Given the description of an element on the screen output the (x, y) to click on. 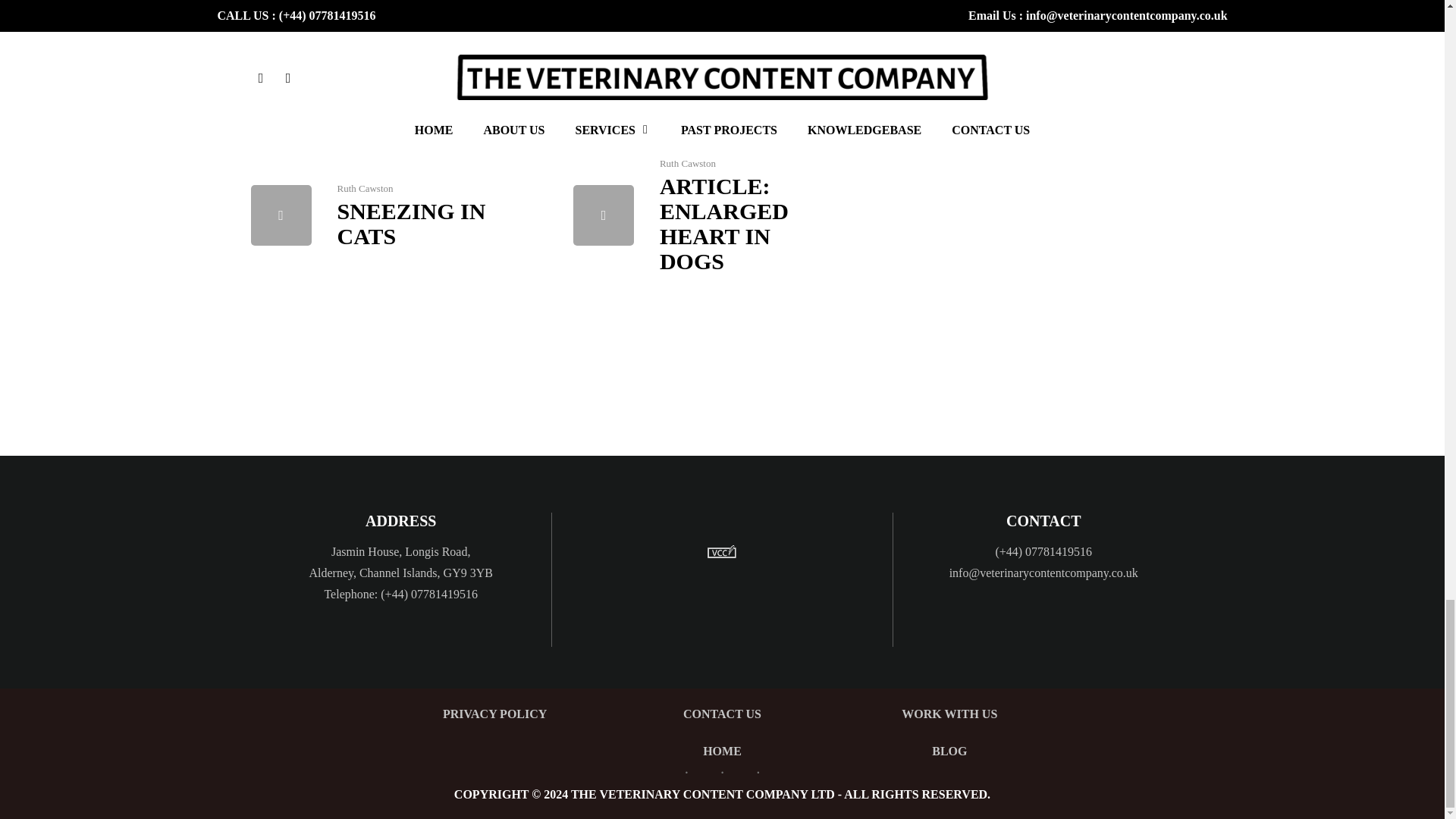
DOG EYE DISCHARGE: TYPES, CAUSES, TREATMENTS (707, 48)
SNEEZING IN CATS (410, 223)
WHAT IS PYOMETRA IN DOGS (382, 37)
HOW TO BECOME A VETERINARY NEUROLOGIST (1024, 48)
Ruth Cawston (603, 17)
Ruth Cawston (280, 17)
Ruth Cawston (364, 188)
Ruth Cawston (925, 17)
